Given the description of an element on the screen output the (x, y) to click on. 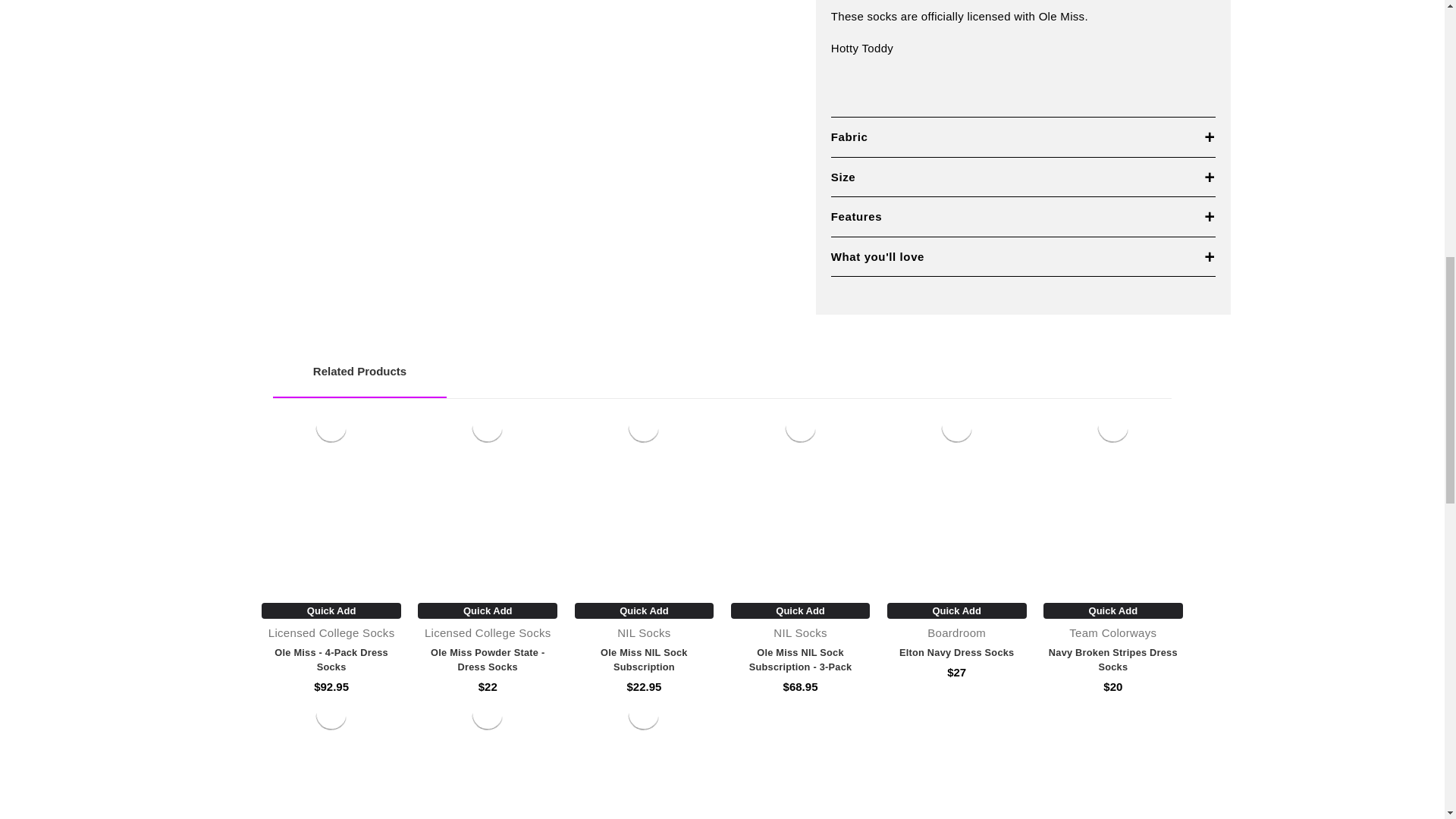
Navy dress socks with gold shamrocks design (331, 714)
Wear DeadSoxy Ole Miss Powder State - Dress Socks (487, 426)
navy broken stripes socks on mannequin (1113, 426)
Ole Miss NIL Sock Subscription 3-Pack (800, 426)
